Given the description of an element on the screen output the (x, y) to click on. 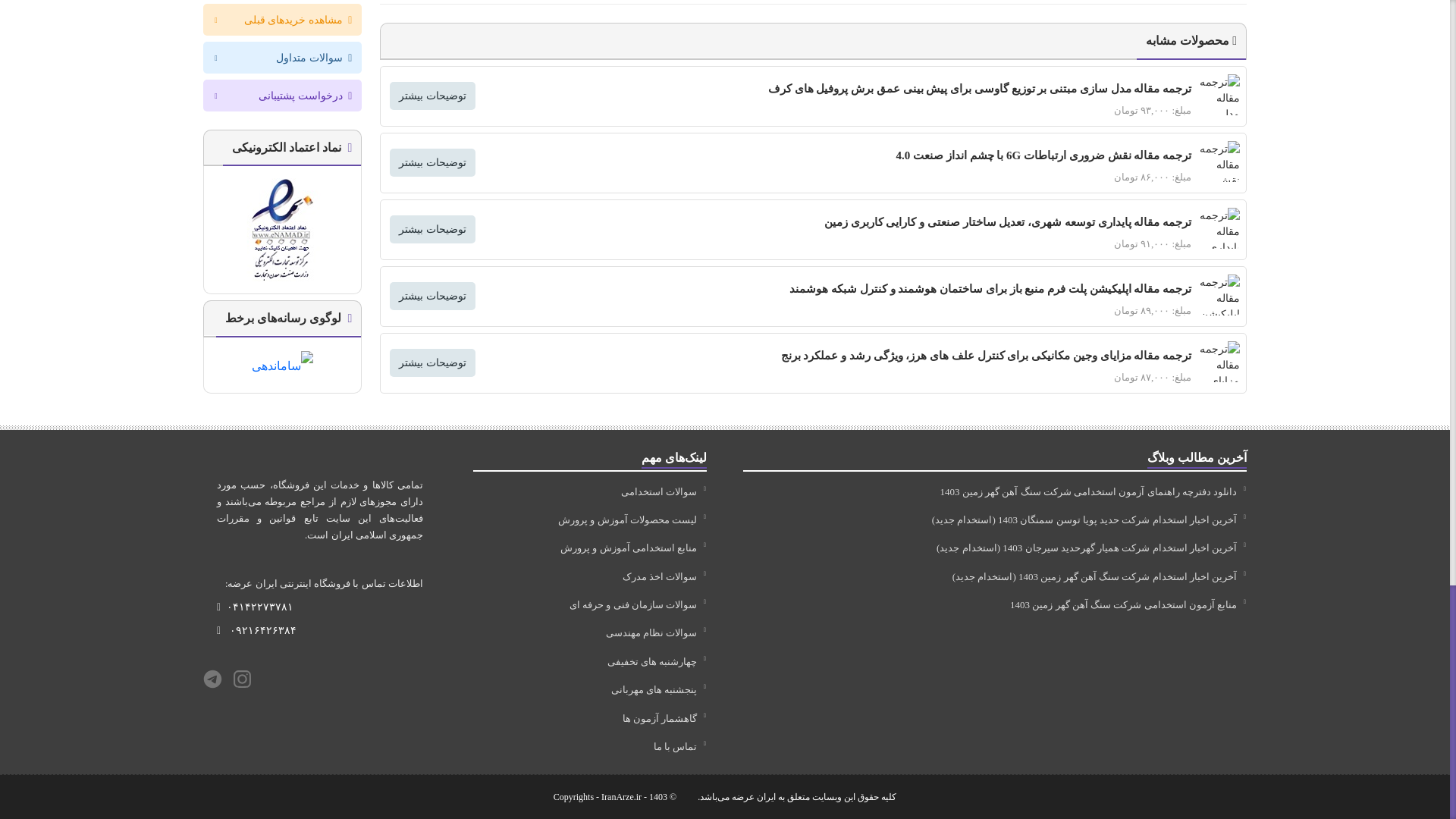
telegram (212, 678)
